Given the description of an element on the screen output the (x, y) to click on. 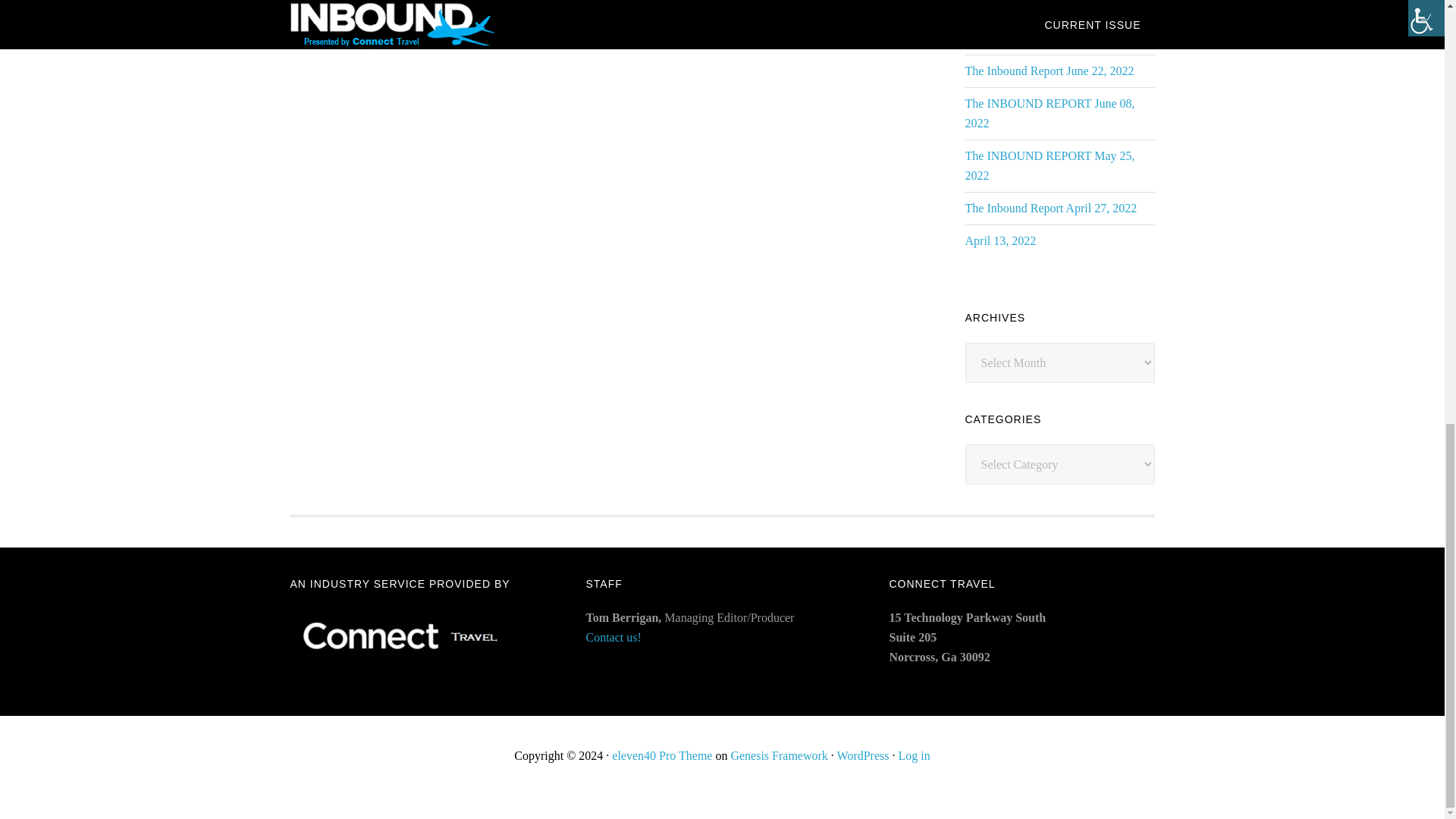
The Inbound Report April 27, 2022 (1050, 207)
The INBOUND REPORT June 08, 2022 (1048, 113)
The Inbound Report July 13, 2022 (1047, 38)
The Inbound Report July 27, 2022 (1047, 6)
The Inbound Report June 22, 2022 (1048, 70)
The INBOUND REPORT May 25, 2022 (1048, 165)
